Given the description of an element on the screen output the (x, y) to click on. 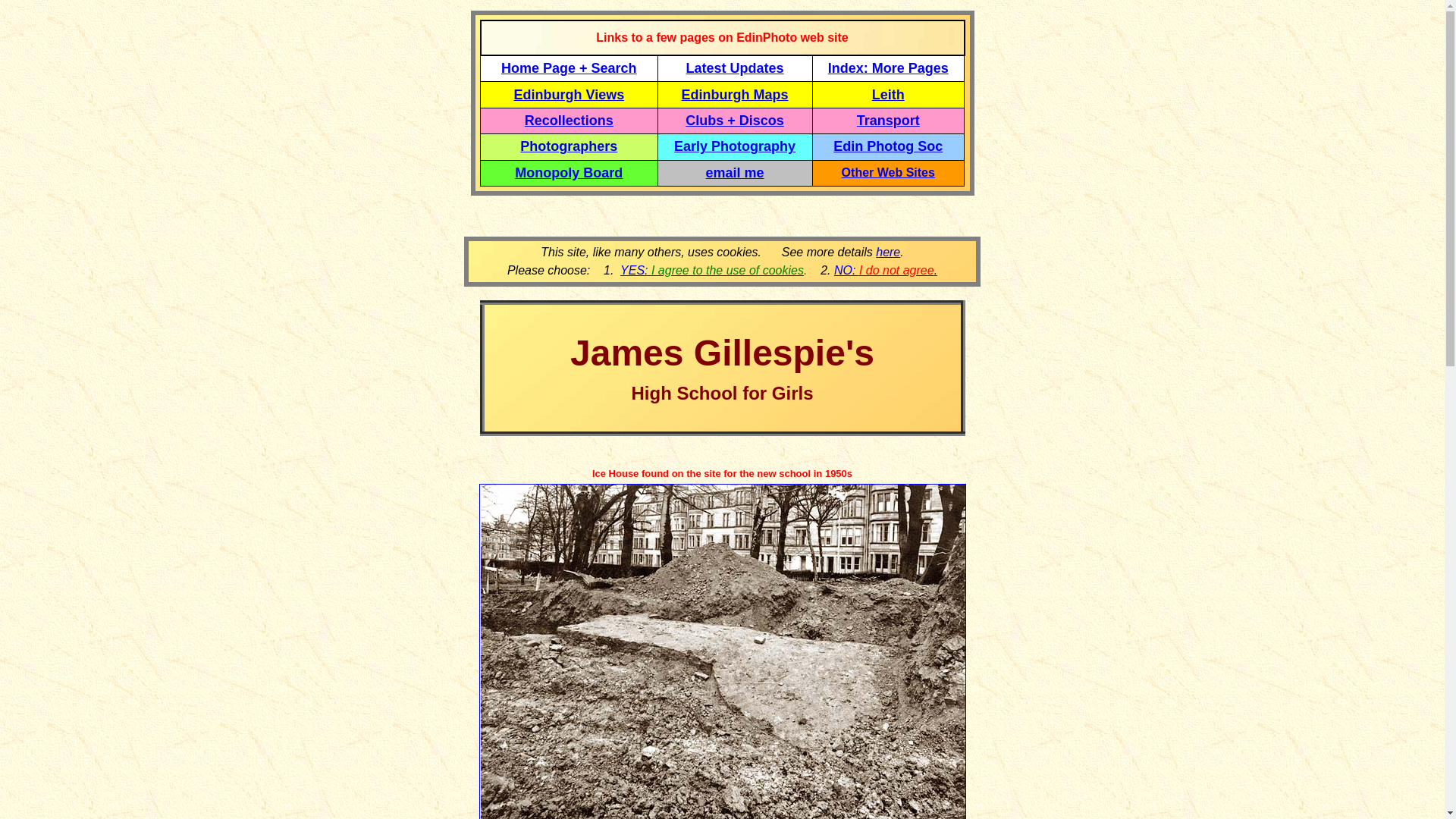
Other Web Sites (887, 172)
email me (735, 172)
Edin Photog Soc (887, 145)
Transport (888, 120)
Monopoly Board (569, 172)
Recollections (568, 120)
Early Photography (734, 145)
NO: I do not agree. (885, 269)
Index: More Pages (888, 68)
here (887, 251)
Photographers (568, 145)
Ice House found on the site for the new school (701, 472)
Edinburgh Maps (735, 94)
Leith (888, 94)
Latest Updates (734, 68)
